Given the description of an element on the screen output the (x, y) to click on. 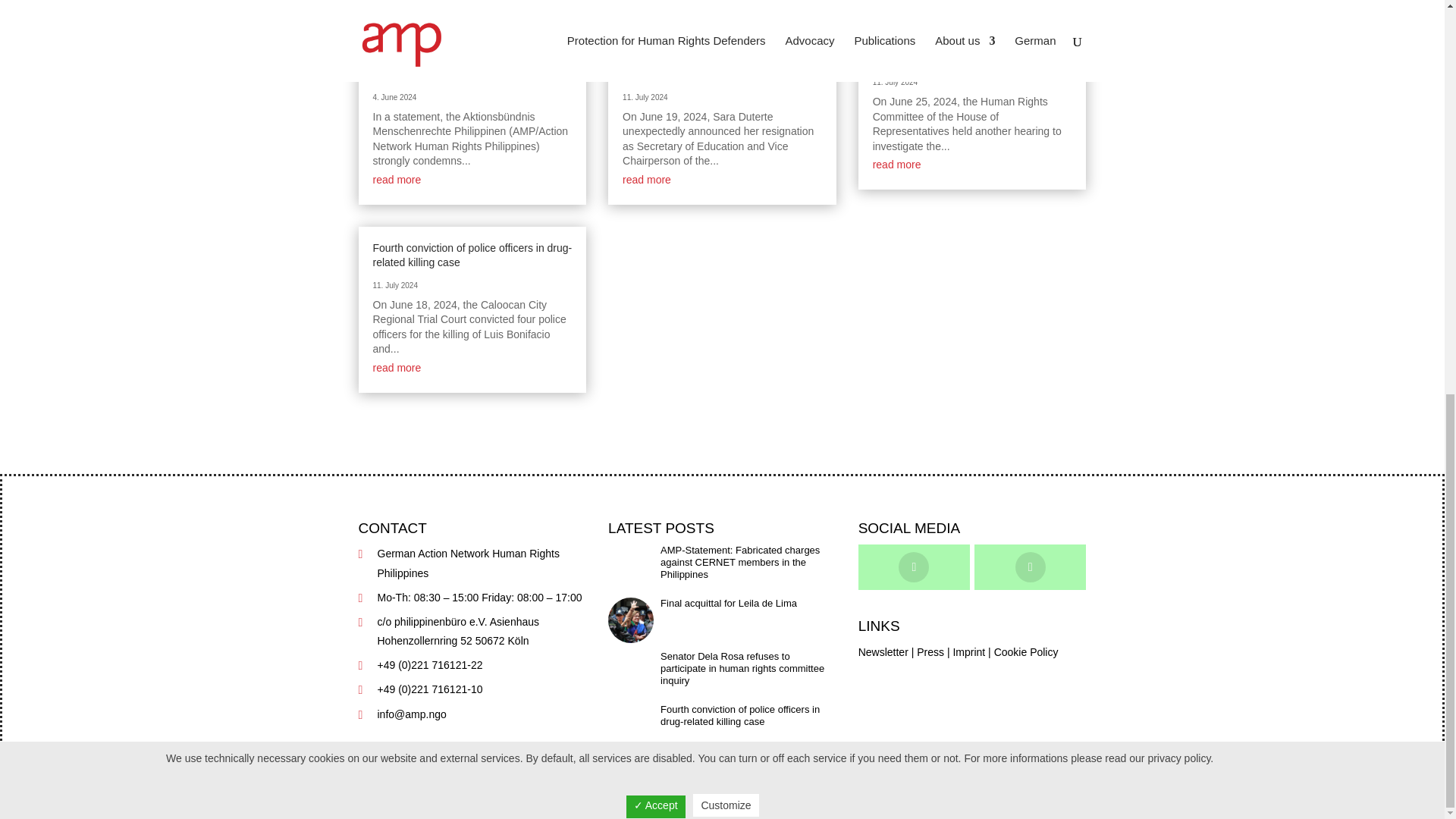
read more (397, 367)
read more (397, 179)
read more (647, 179)
read more (896, 164)
